Given the description of an element on the screen output the (x, y) to click on. 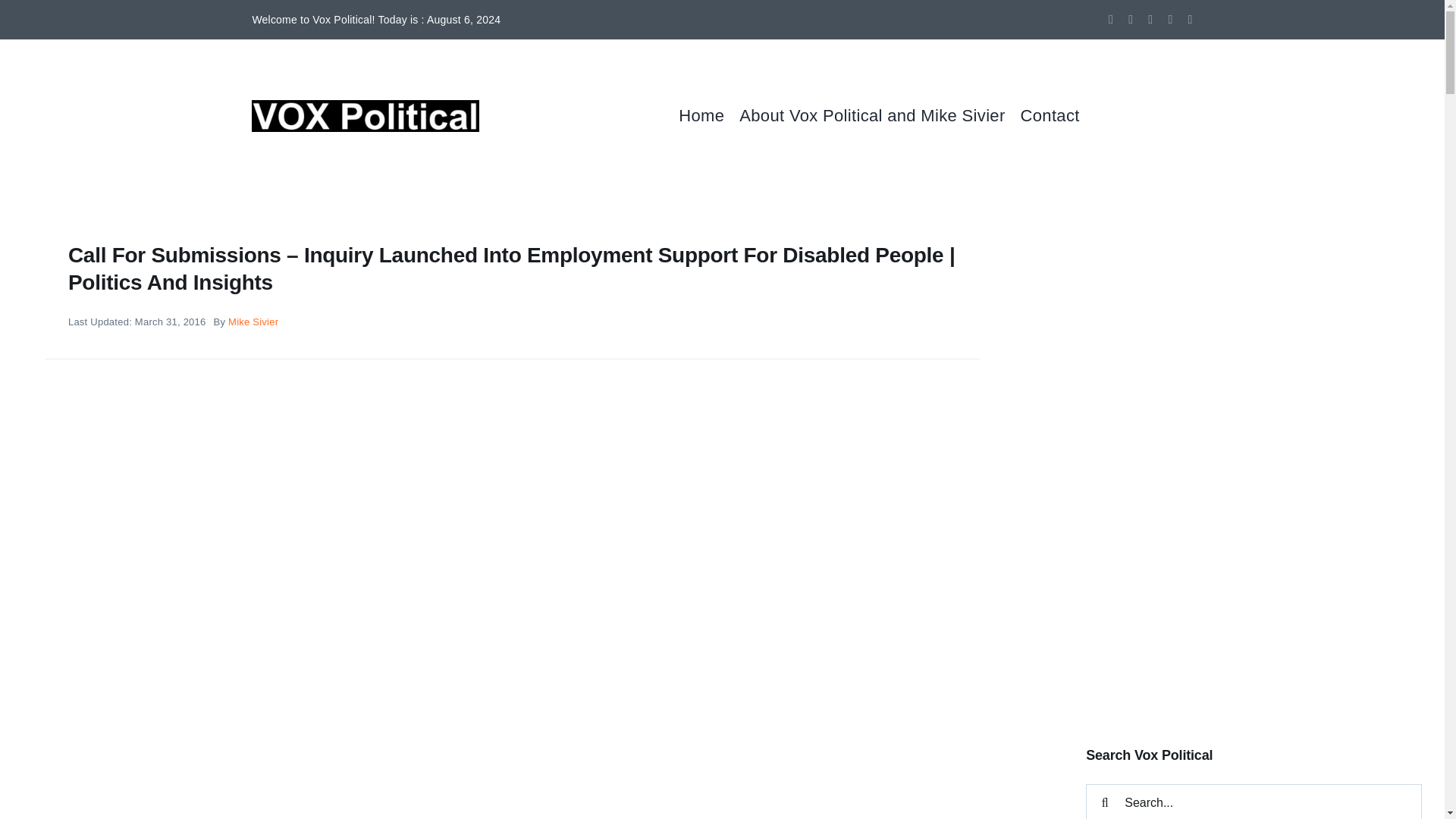
Advertisement (1254, 598)
Posts by Mike Sivier (253, 321)
Contact (1057, 115)
Mike Sivier (253, 321)
About Vox Political and Mike Sivier (879, 115)
Home (708, 115)
